Given the description of an element on the screen output the (x, y) to click on. 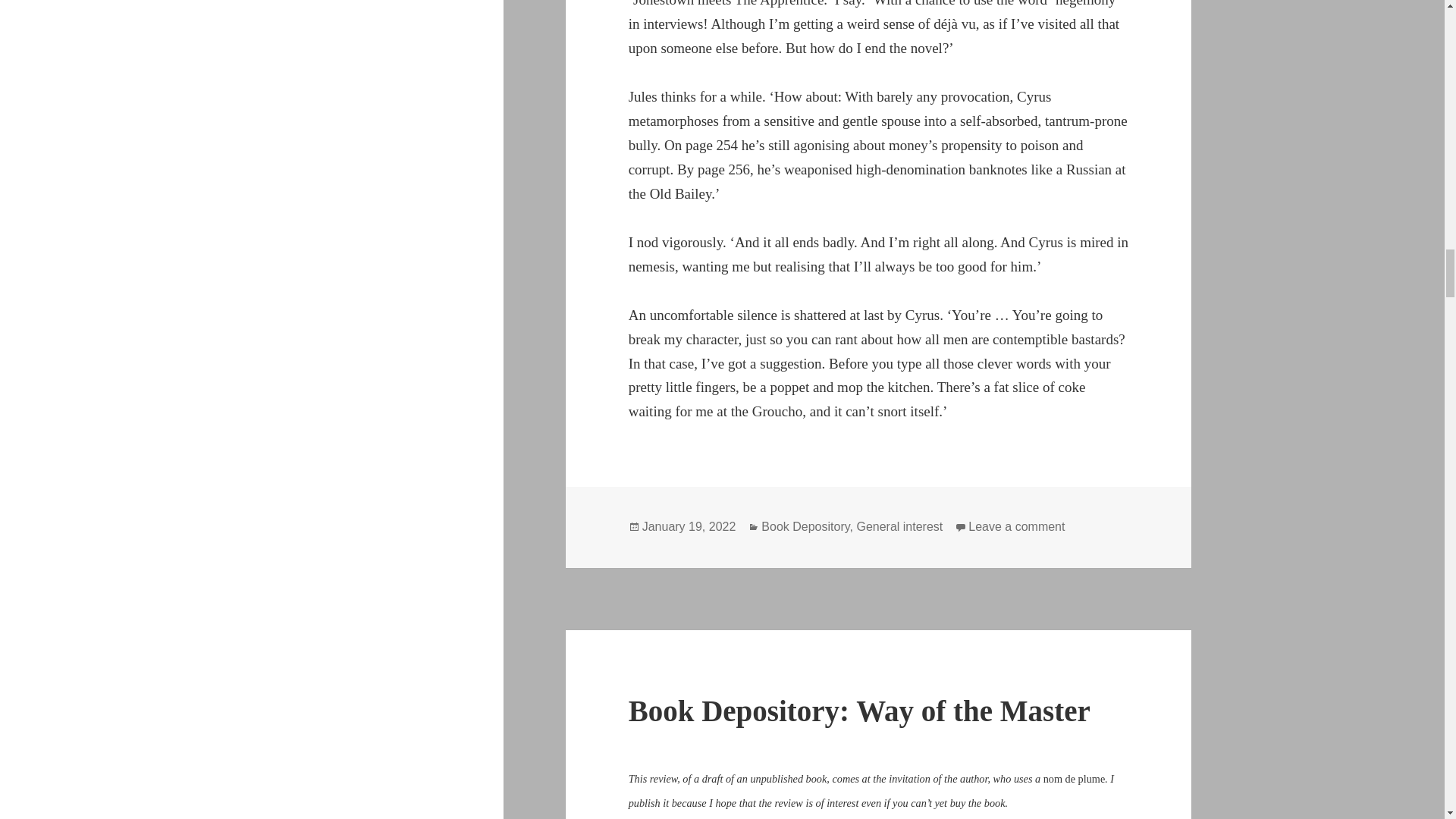
General interest (899, 526)
January 19, 2022 (689, 526)
Book Depository (804, 526)
Book Depository: Way of the Master (859, 710)
